Given the description of an element on the screen output the (x, y) to click on. 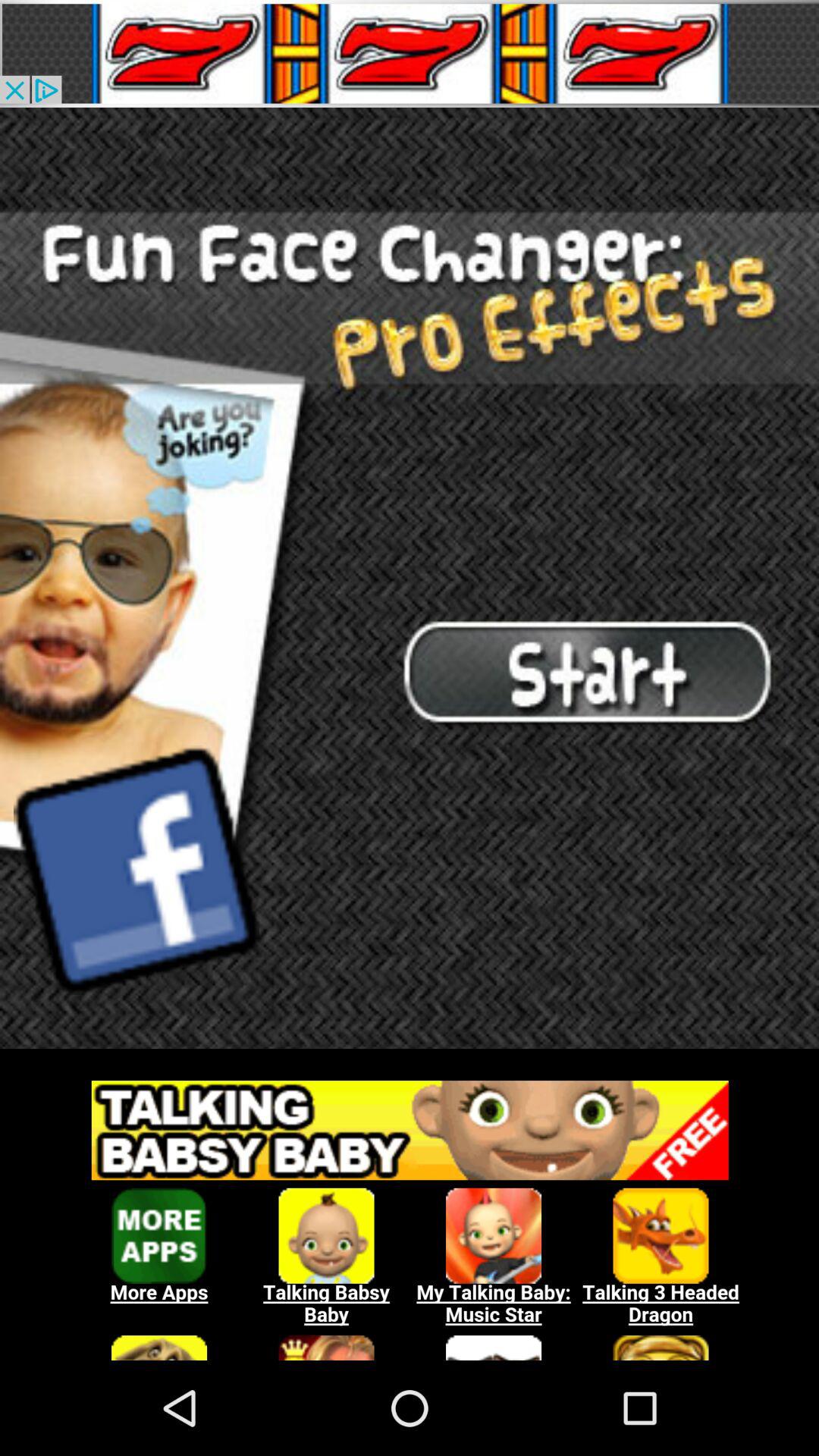
start menu (409, 577)
